Given the description of an element on the screen output the (x, y) to click on. 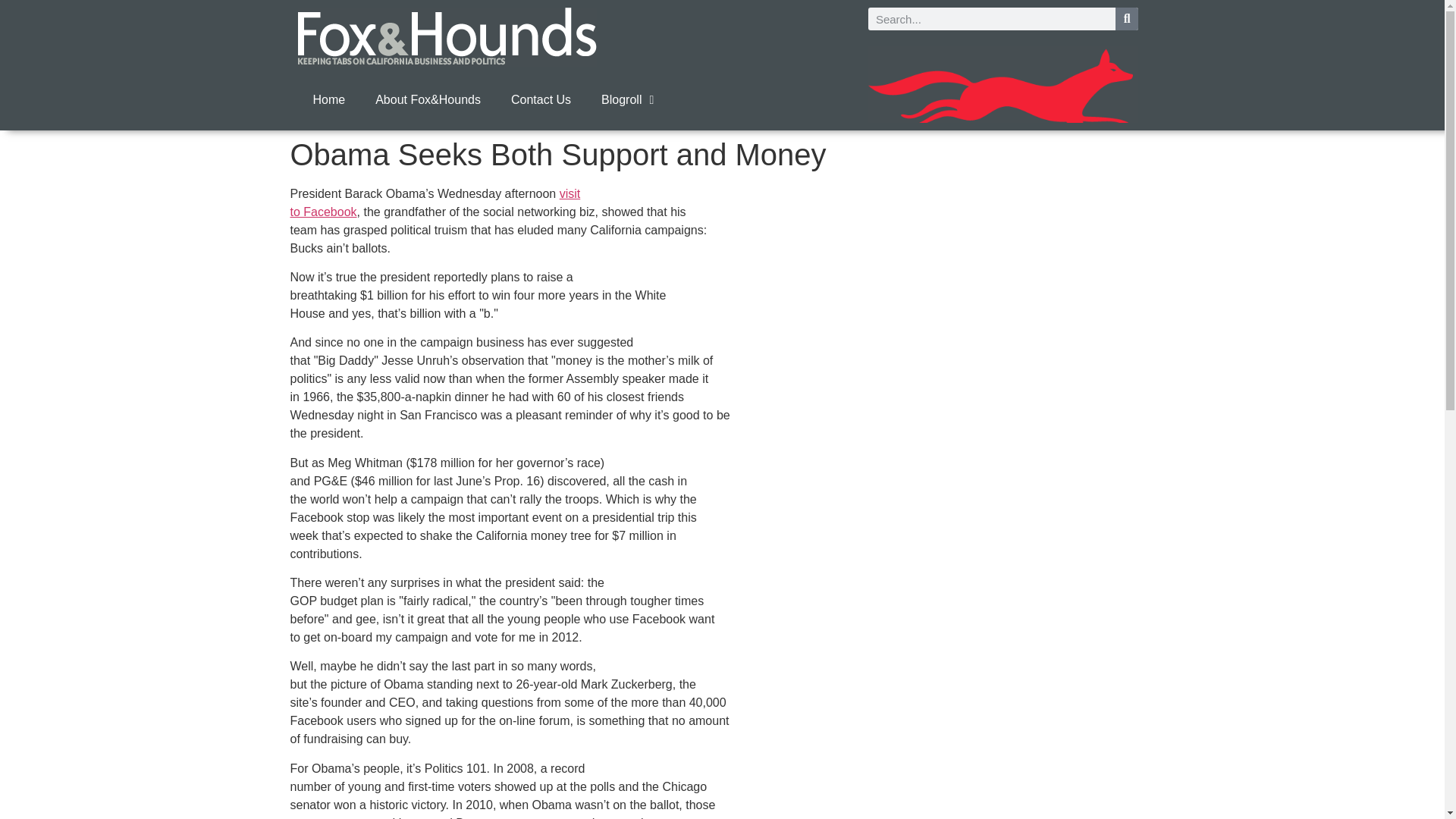
Home (328, 99)
Blogroll (627, 99)
Contact Us (434, 202)
